Given the description of an element on the screen output the (x, y) to click on. 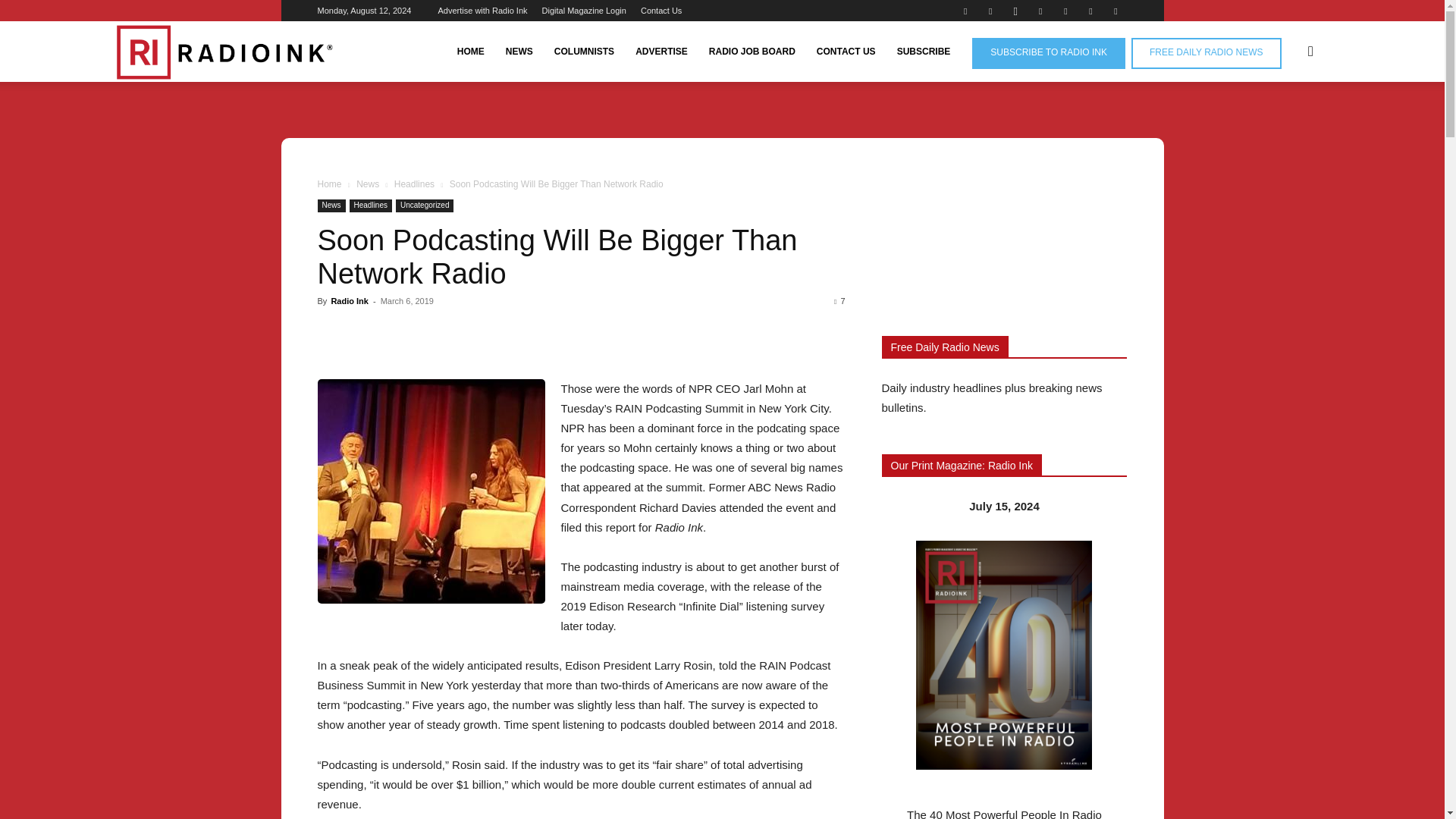
Instagram (1015, 10)
Facebook (964, 10)
Youtube (1114, 10)
Soundcloud (1065, 10)
FREE DAILY RADIO NEWS (1206, 52)
Linkedin (1040, 10)
SUBSCRIBE TO RADIO INK (1048, 52)
Twitter (1090, 10)
Flickr (989, 10)
